Given the description of an element on the screen output the (x, y) to click on. 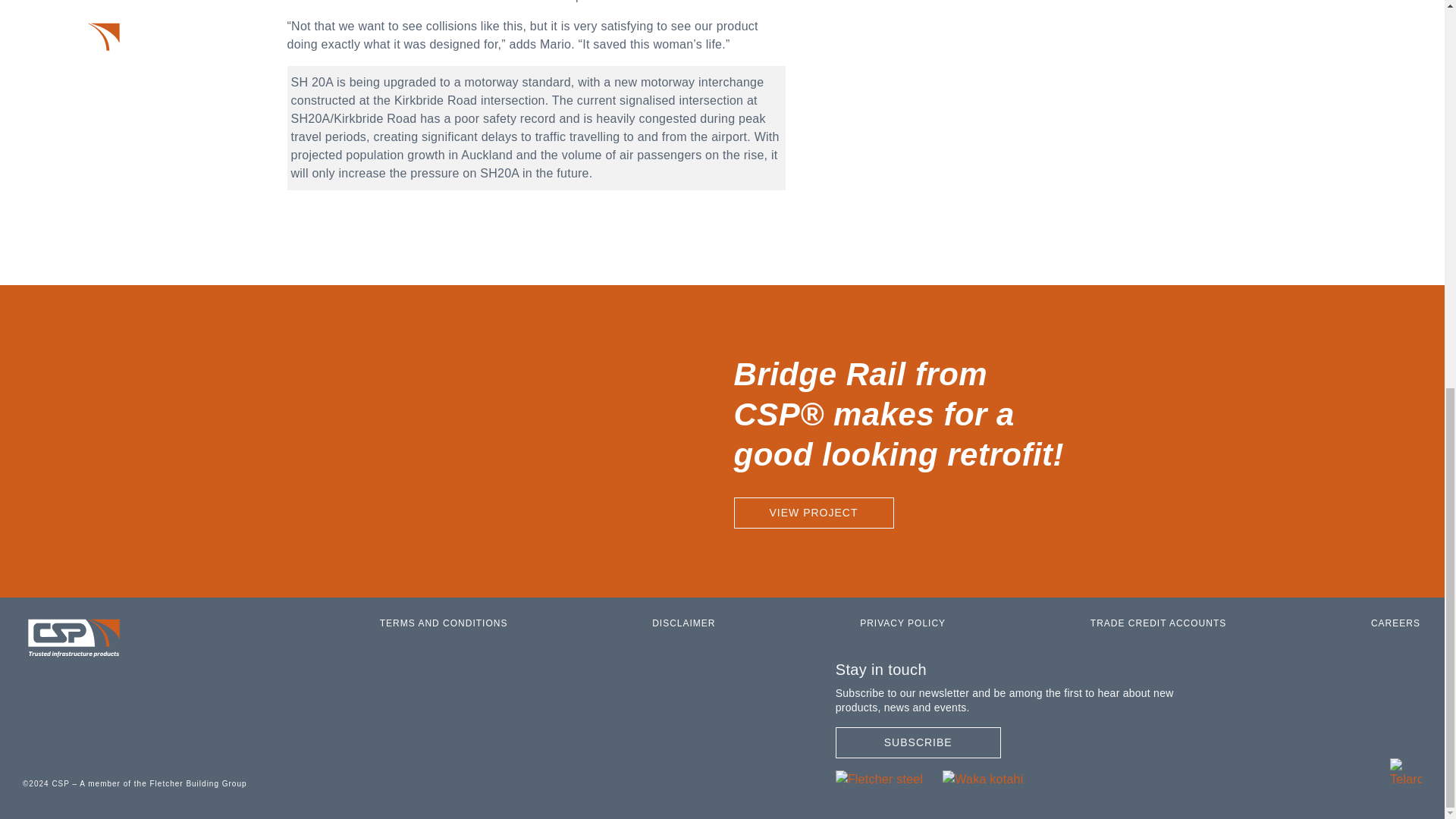
CSP (1406, 771)
CSP (74, 639)
Waka Kotahi (982, 778)
Fletcher Building Group (163, 783)
Fletcher Building (879, 778)
